Given the description of an element on the screen output the (x, y) to click on. 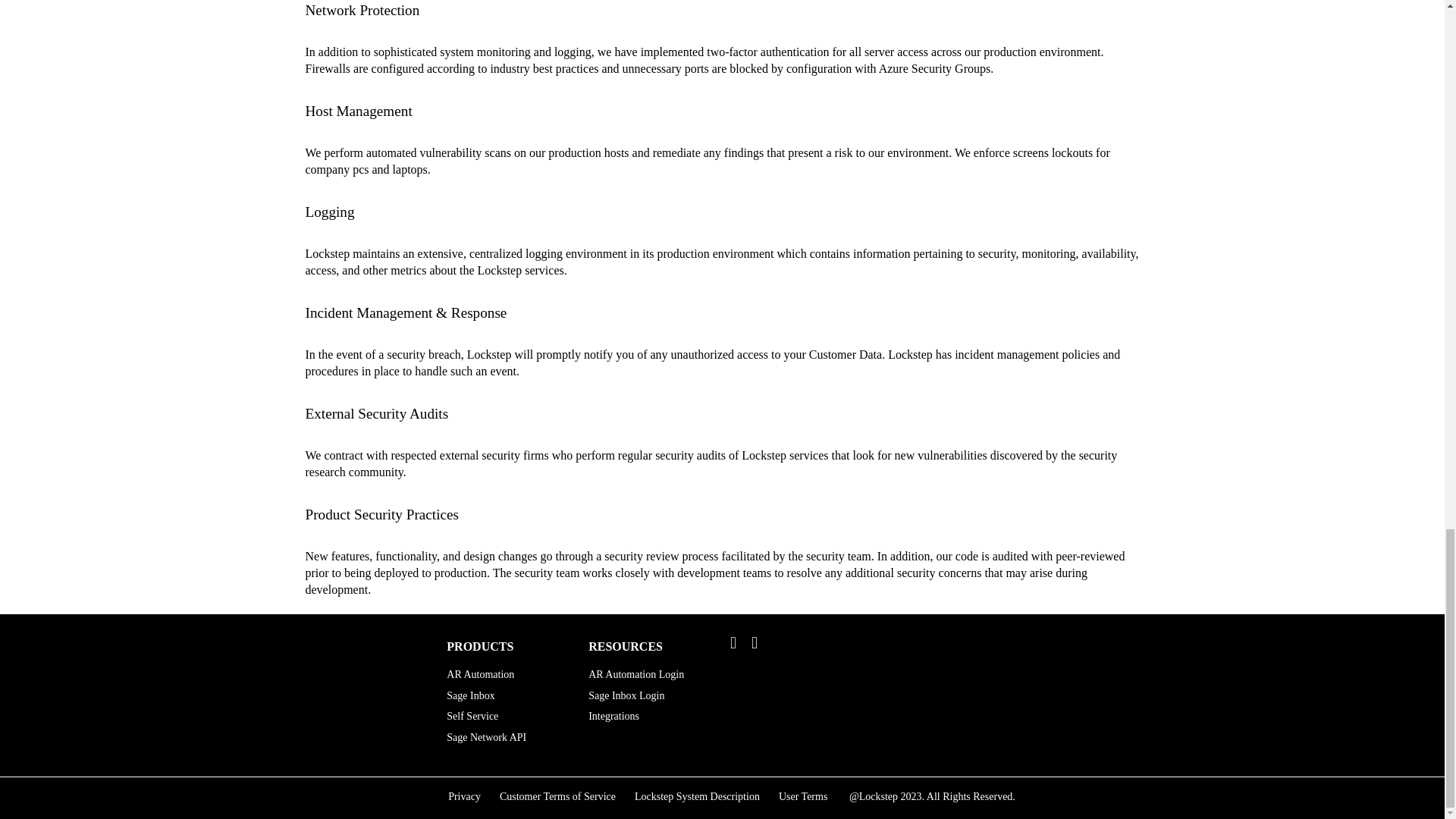
Sage Inbox (506, 695)
Self Service (506, 716)
AR Automation (506, 674)
AR Automation Login (647, 677)
Integrations (647, 719)
Sage Network API (506, 737)
Sage Inbox Login (647, 699)
